Given the description of an element on the screen output the (x, y) to click on. 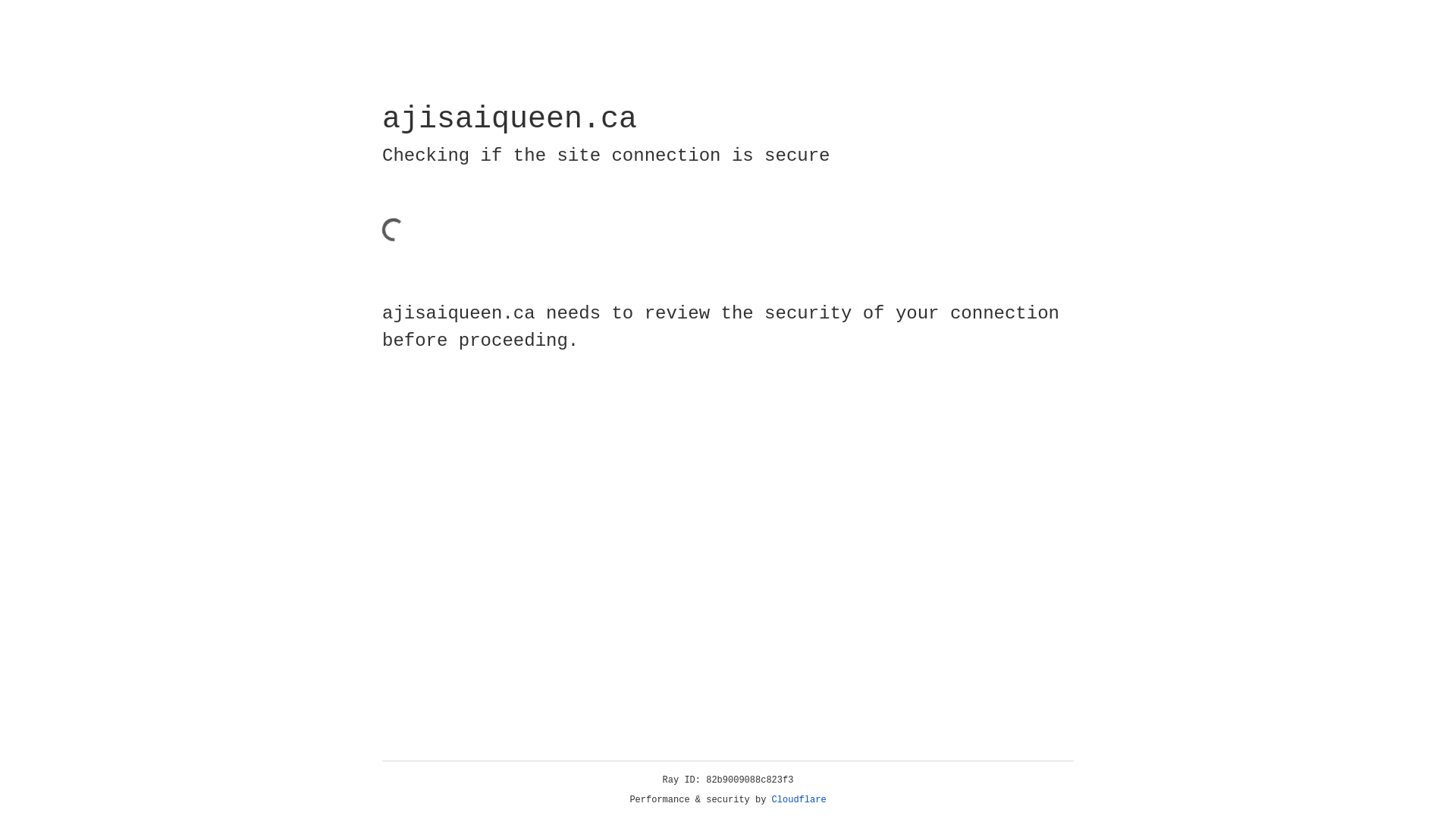
Cloudflare Element type: text (798, 799)
